Given the description of an element on the screen output the (x, y) to click on. 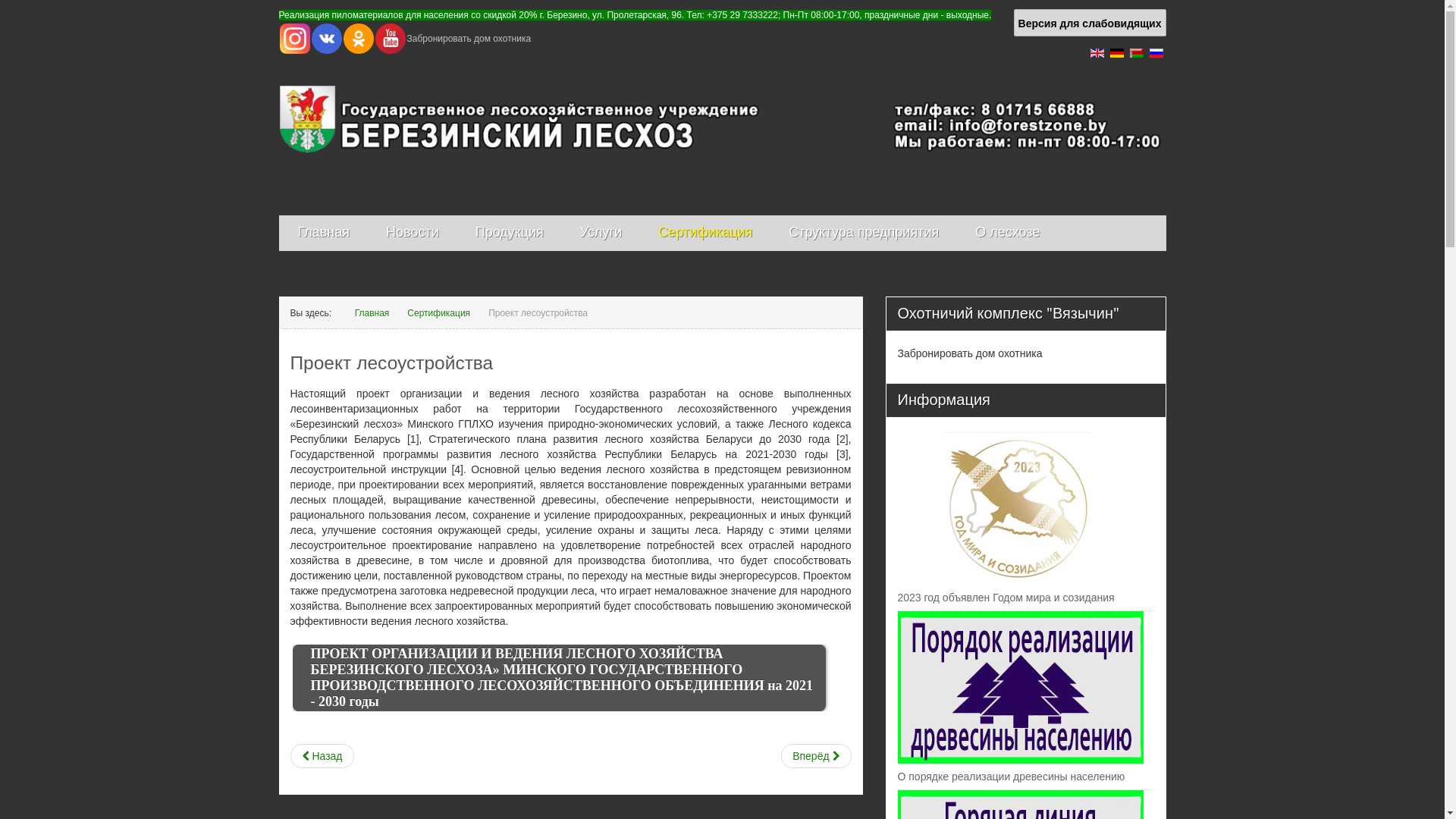
Go Top Element type: text (1412, 782)
English (UK) Element type: hover (1097, 52)
Deutsch (DE) Element type: hover (1116, 52)
